Given the description of an element on the screen output the (x, y) to click on. 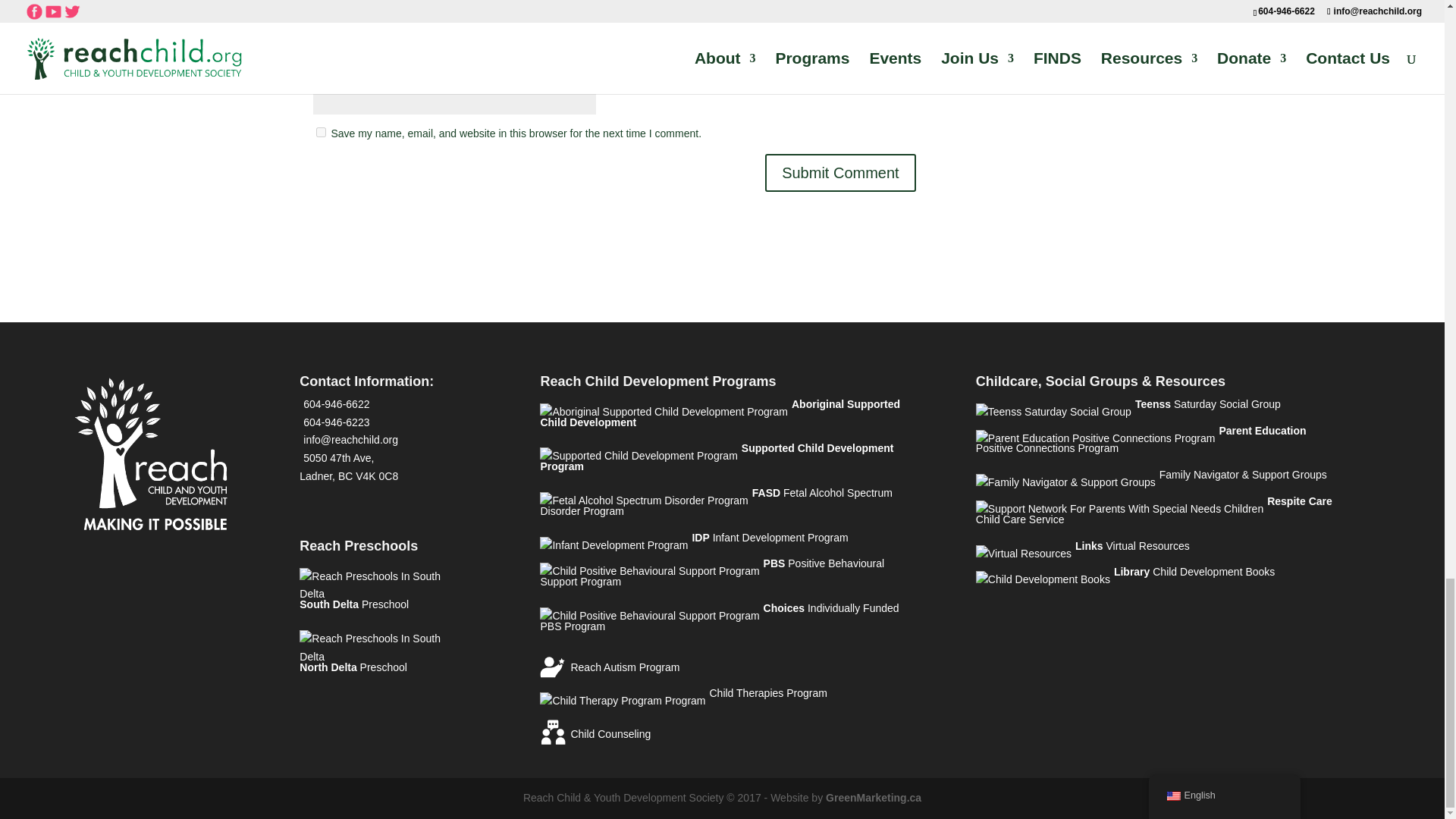
Submit Comment (840, 172)
yes (319, 132)
